Given the description of an element on the screen output the (x, y) to click on. 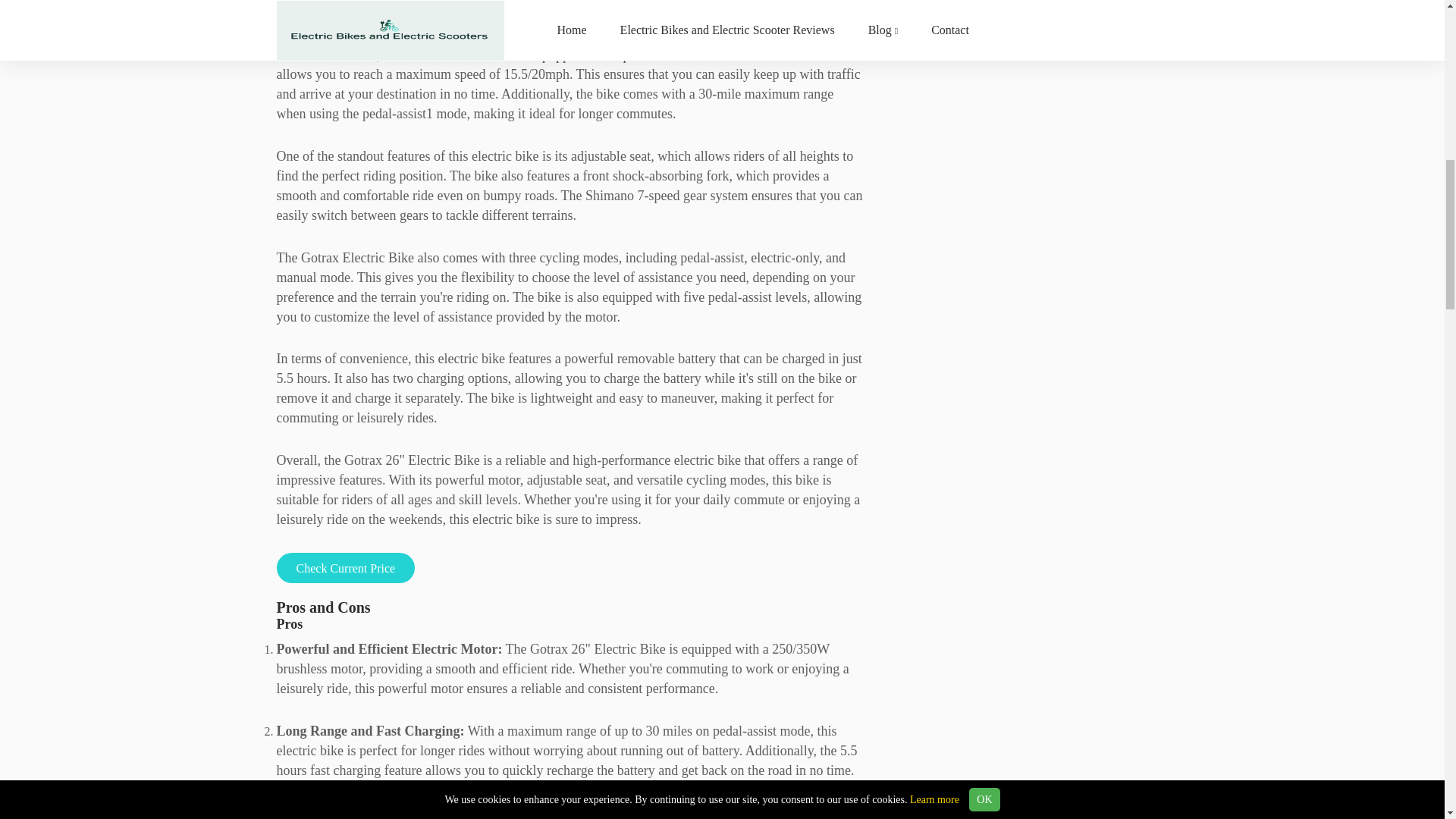
Check Current Price (345, 567)
